Given the description of an element on the screen output the (x, y) to click on. 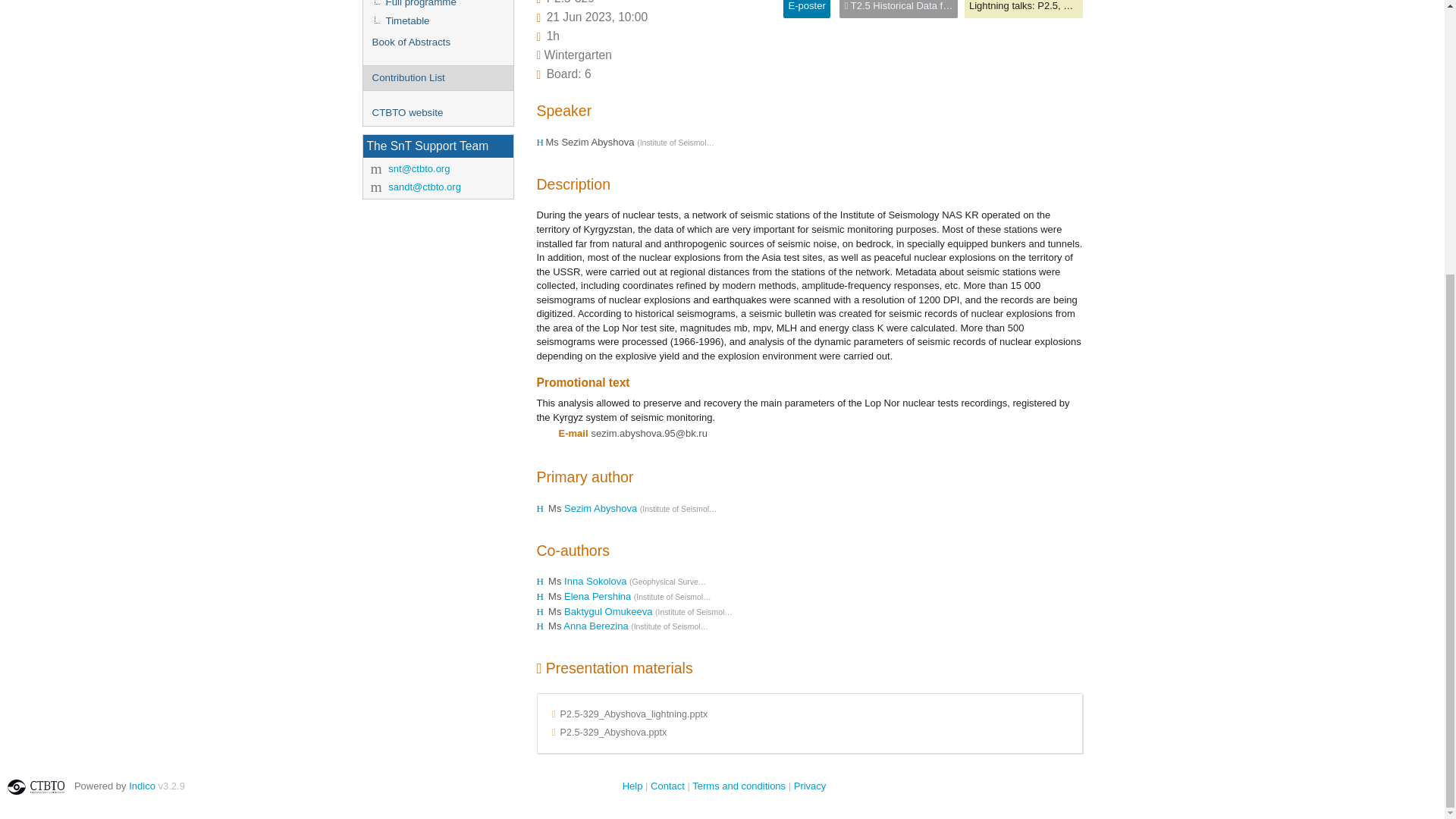
Duration (553, 35)
Baktygul Omukeeva (609, 611)
CTBTO website (437, 113)
Contribution List (437, 78)
Inna Sokolova (596, 581)
Elena Pershina (598, 595)
Full programme (437, 6)
Sezim Abyshova (602, 508)
Anna Berezina (596, 625)
Lightning talks: P2.5, P4.1, P4.2, P4.3 (1052, 5)
Timetable (437, 21)
Book of Abstracts (437, 42)
